Given the description of an element on the screen output the (x, y) to click on. 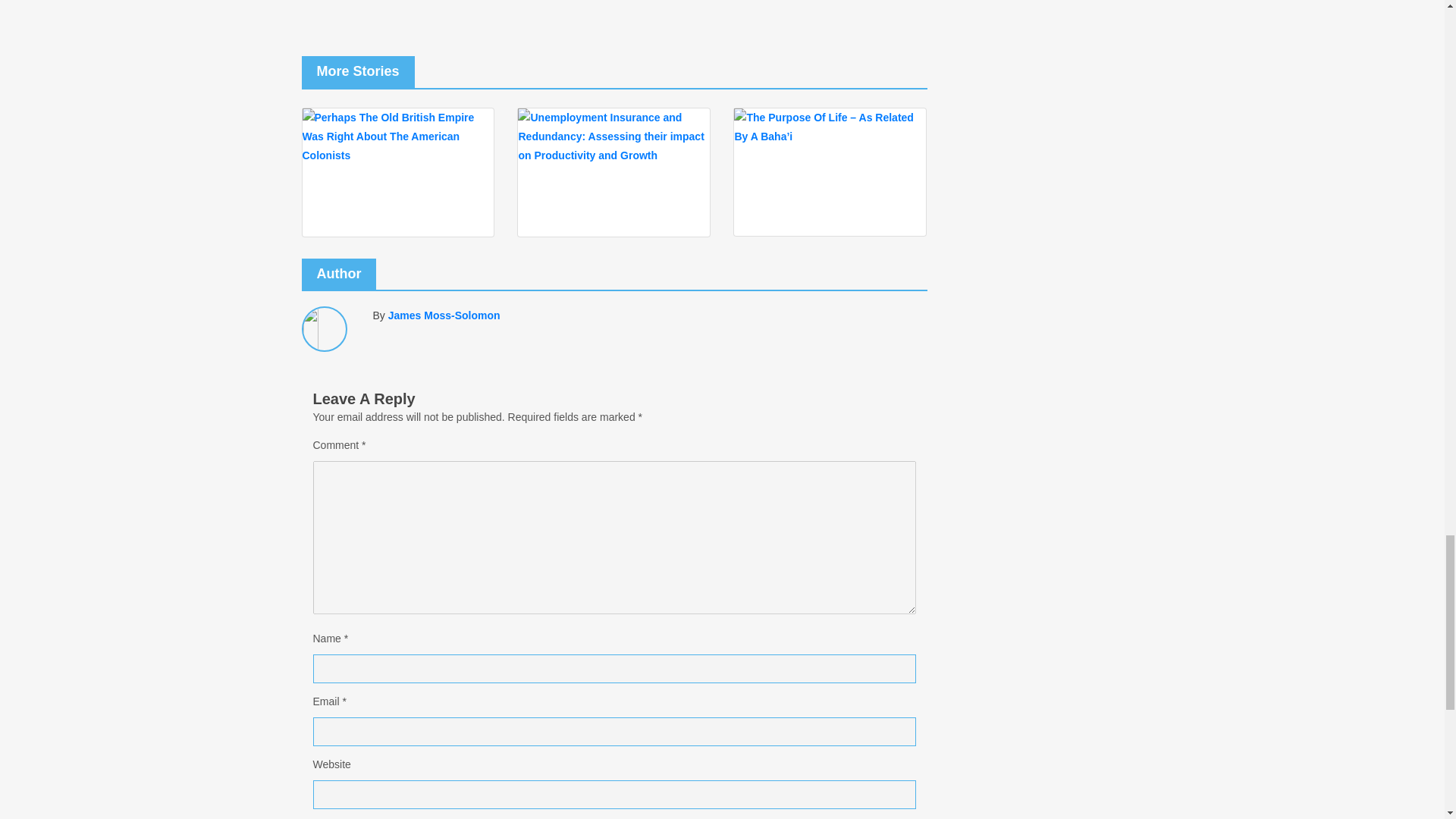
James Moss-Solomon (445, 315)
